Given the description of an element on the screen output the (x, y) to click on. 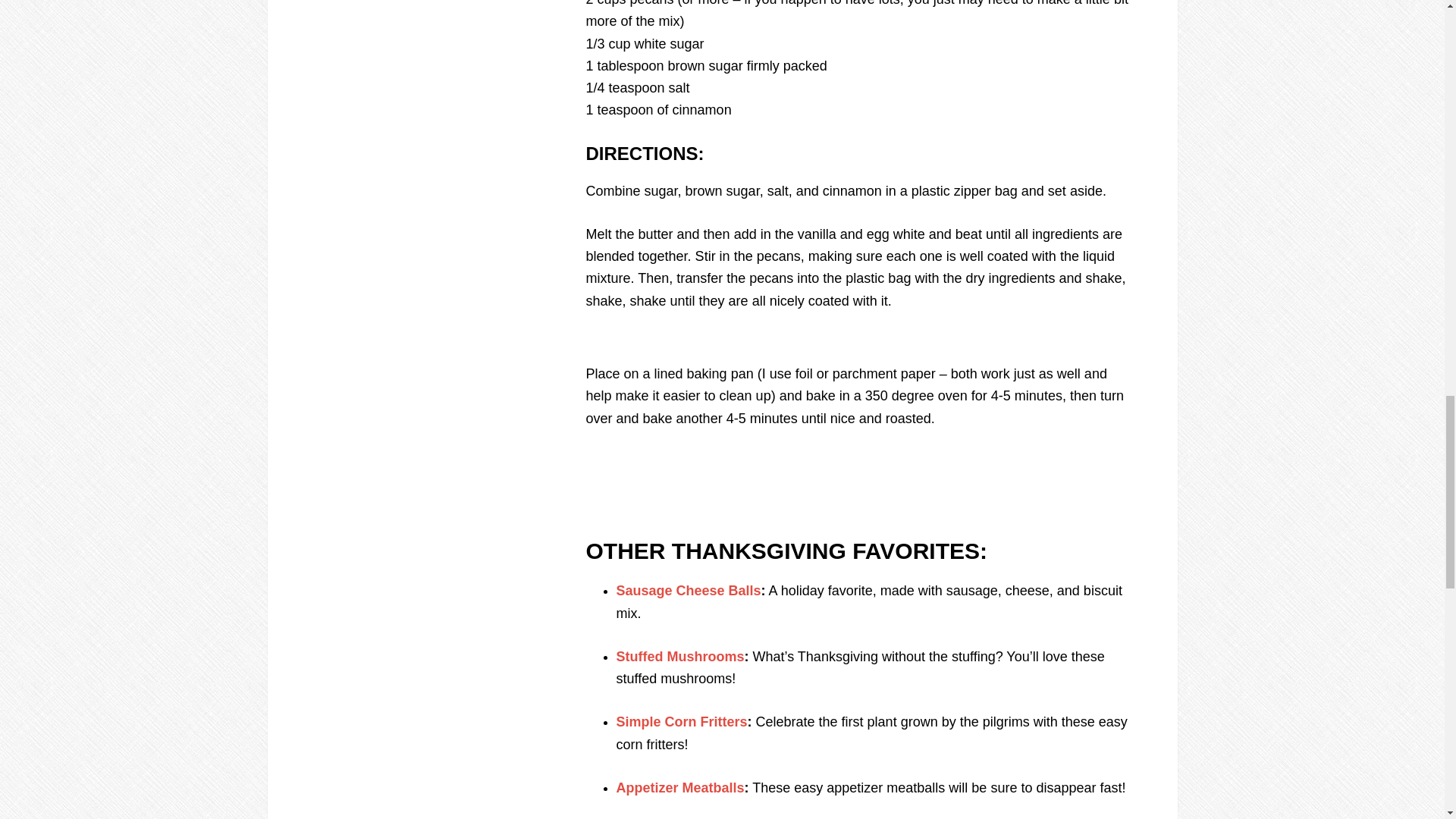
Advertisement (858, 460)
Advertisement (858, 342)
Appetizer Meatballs (679, 787)
Simple Corn Fritters (680, 721)
Sausage Cheese Balls (687, 590)
Stuffed Mushrooms (679, 656)
